Given the description of an element on the screen output the (x, y) to click on. 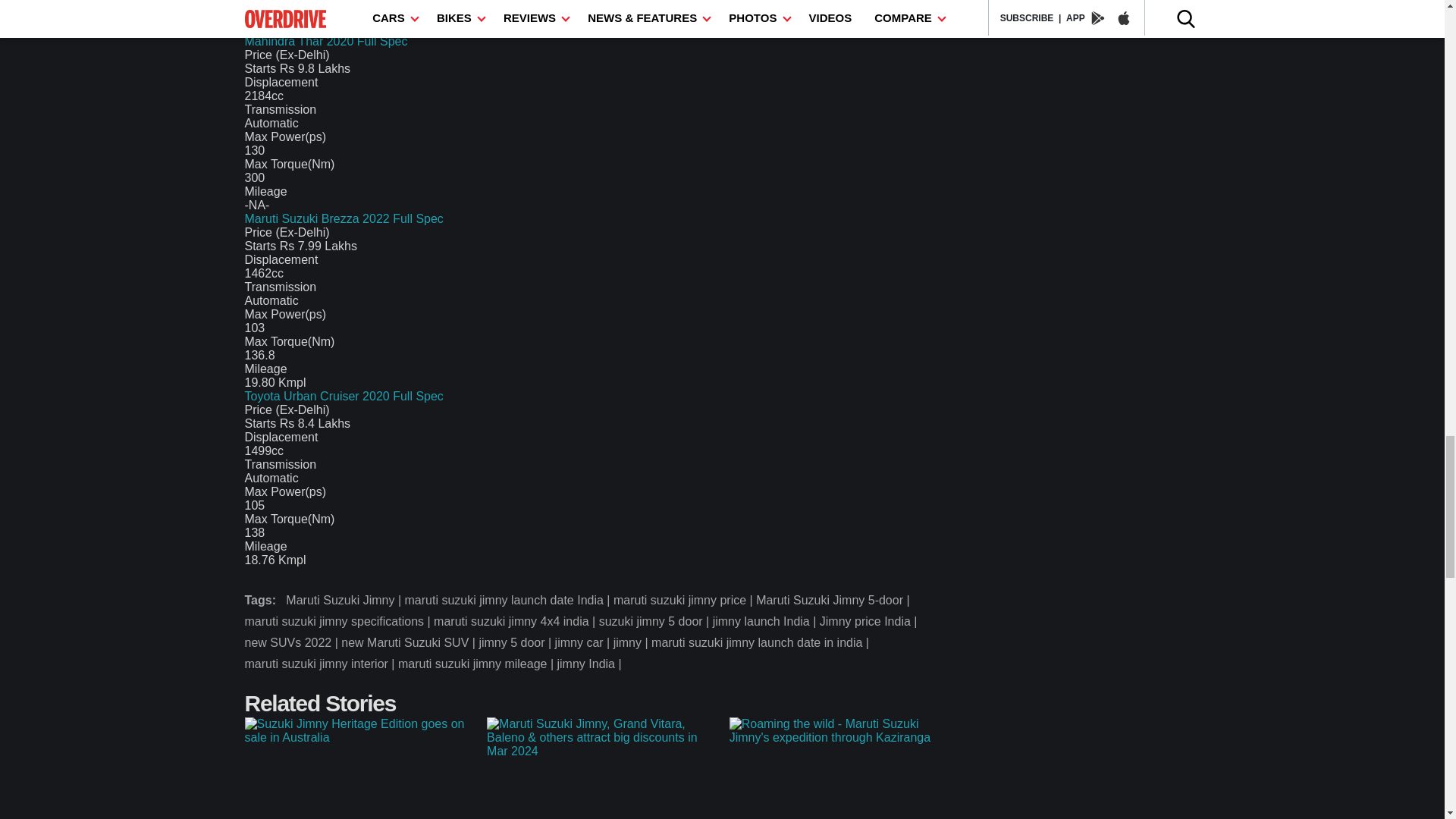
suzuki jimny 5 door (655, 621)
maruti suzuki jimny launch date India (508, 599)
maruti suzuki jimny price (683, 599)
Maruti Suzuki Jimny (344, 599)
jimny launch India (766, 621)
maruti suzuki jimny specifications (338, 621)
Jimny price India (869, 621)
jimny 5 door (516, 642)
new SUVs 2022 (292, 642)
jimny car (583, 642)
Maruti Suzuki Jimny 5-door (833, 599)
new Maruti Suzuki SUV (409, 642)
maruti suzuki jimny 4x4 india (515, 621)
